Given the description of an element on the screen output the (x, y) to click on. 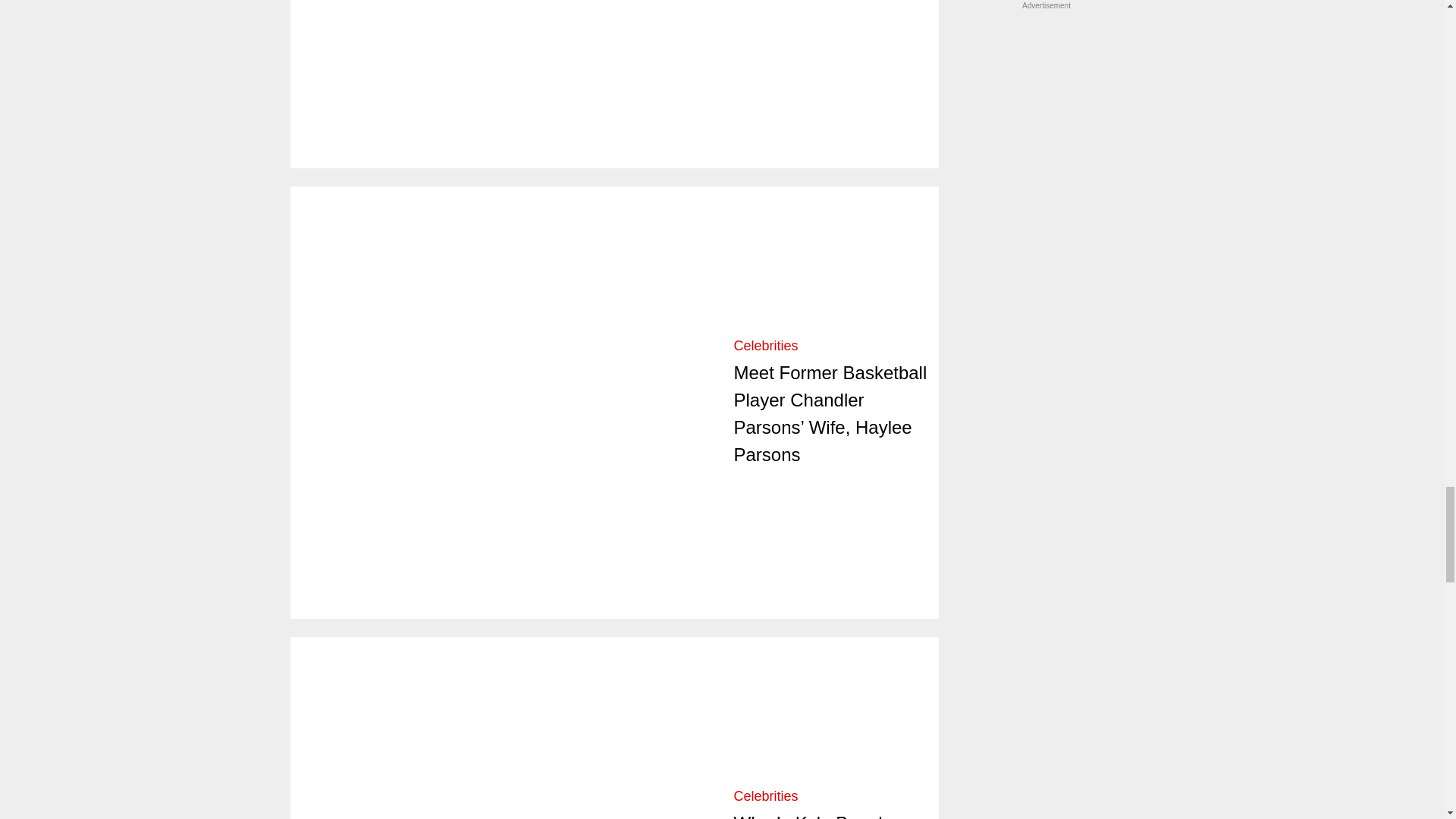
Category Name (765, 345)
Category Name (765, 795)
